Given the description of an element on the screen output the (x, y) to click on. 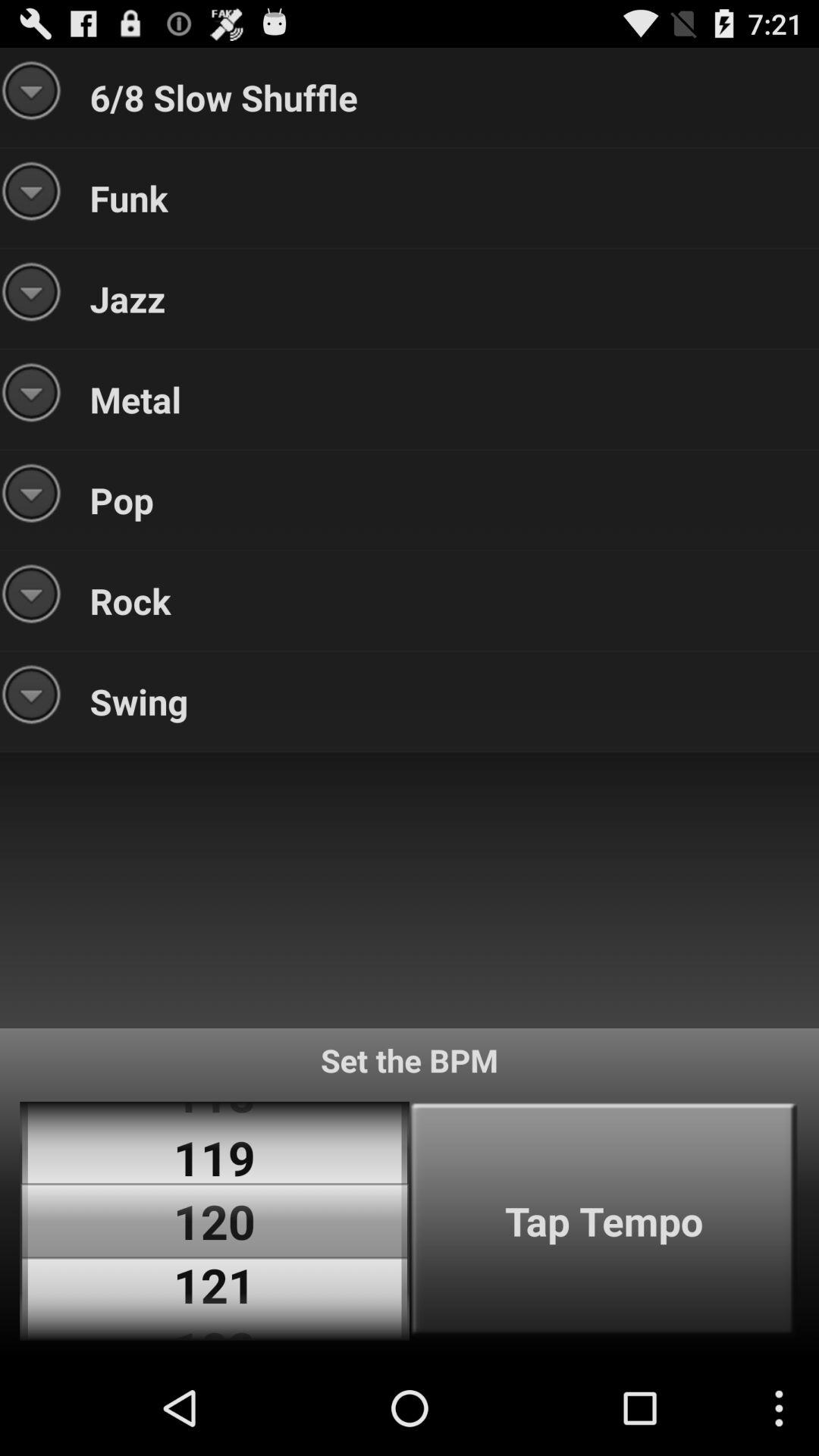
press tap tempo item (604, 1220)
